Given the description of an element on the screen output the (x, y) to click on. 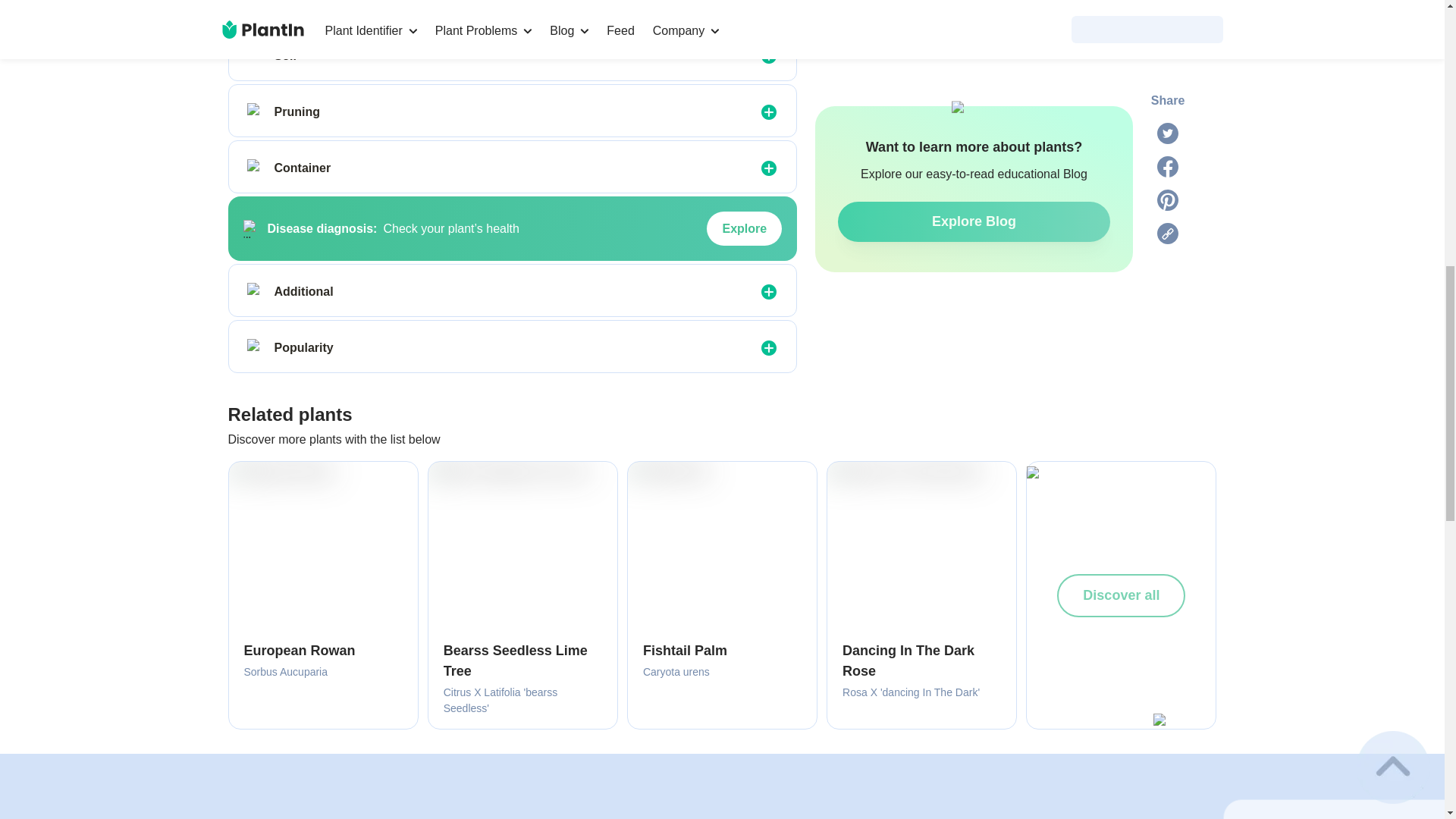
Additional (255, 291)
Explore (743, 228)
Fertilizer (255, 4)
Pruning (255, 112)
Popularity (255, 348)
Container (255, 167)
Soil (255, 55)
